Given the description of an element on the screen output the (x, y) to click on. 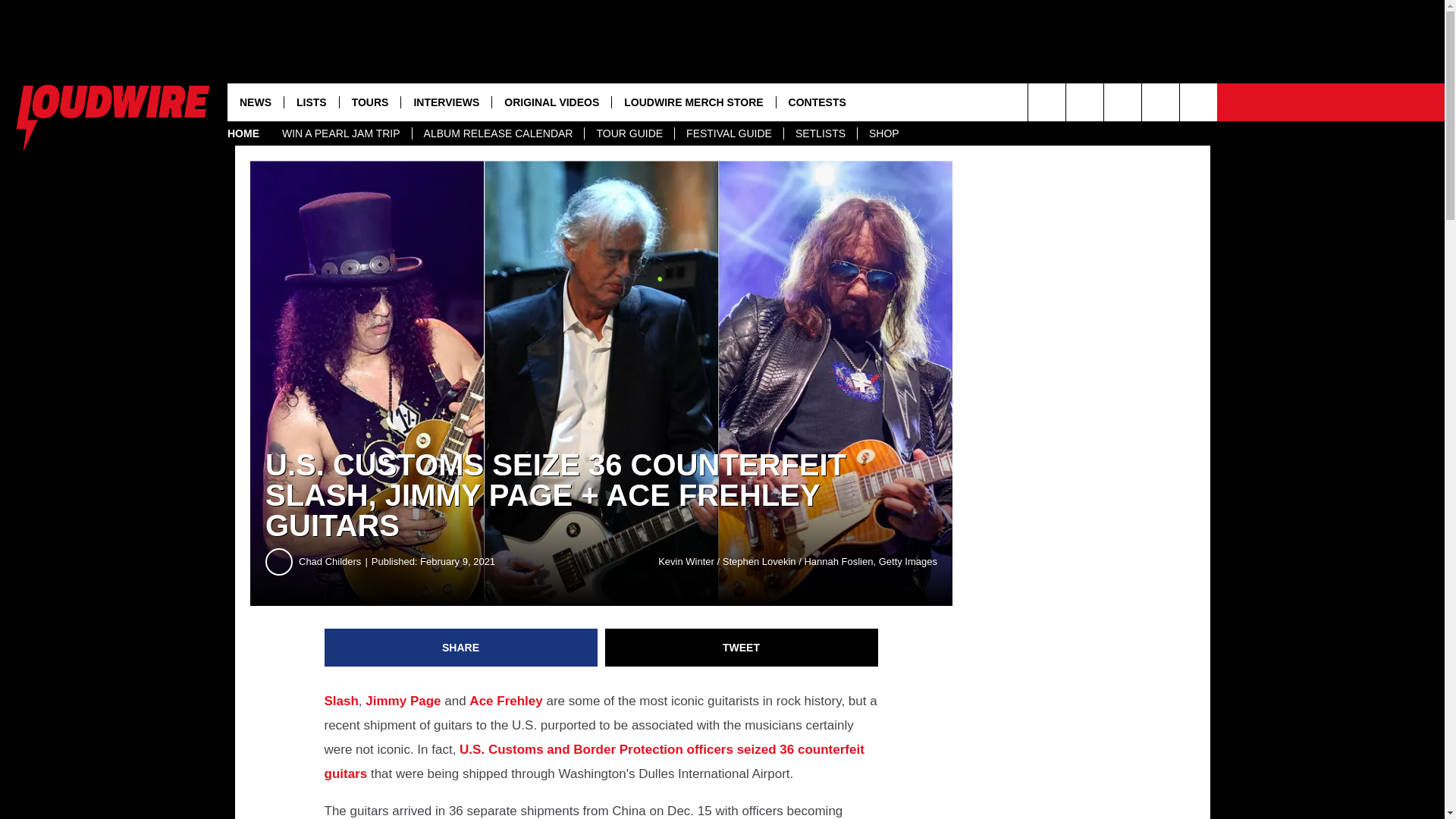
Visit us on Instagram (1084, 102)
CONTESTS (817, 102)
Visit us on Twitter (1198, 102)
SHOP (884, 133)
TOURS (370, 102)
LOUDWIRE MERCH STORE (692, 102)
TWEET (741, 647)
INTERVIEWS (446, 102)
ALBUM RELEASE CALENDAR (498, 133)
Slash (341, 700)
